Given the description of an element on the screen output the (x, y) to click on. 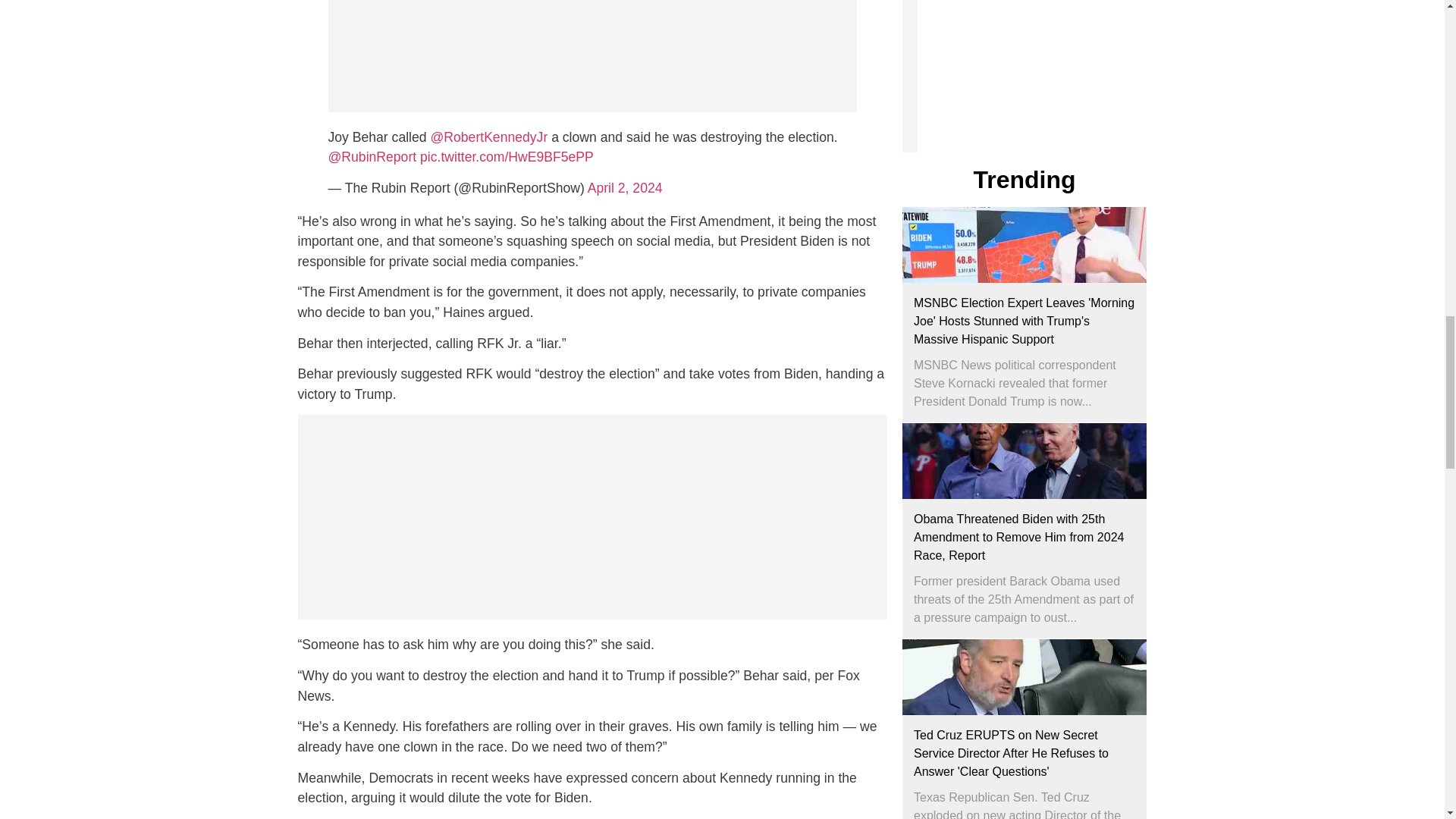
April 2, 2024 (625, 187)
